Given the description of an element on the screen output the (x, y) to click on. 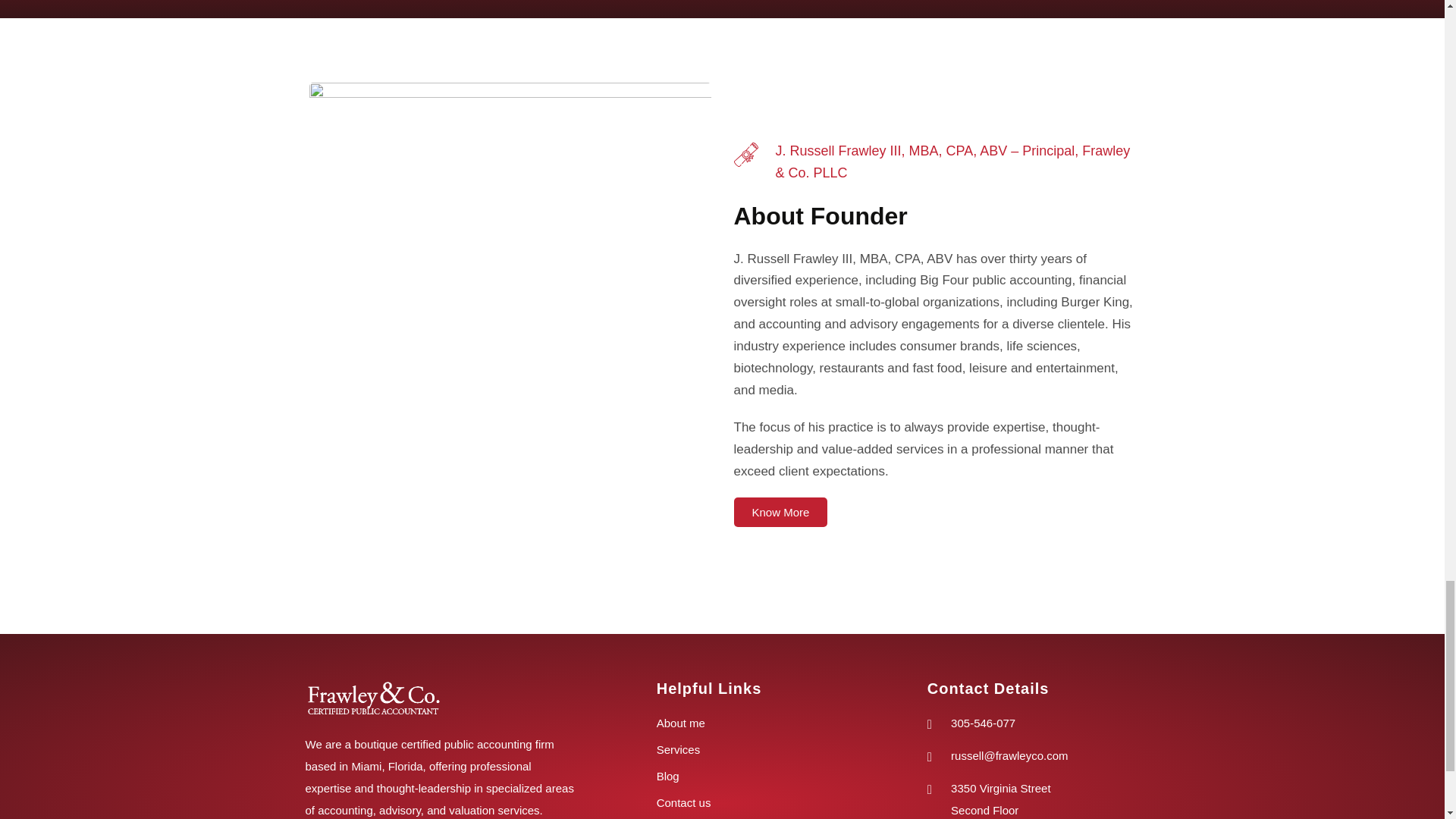
Blog (765, 776)
Know More (780, 512)
About me (765, 723)
Contact us (765, 803)
Services (765, 750)
305-546-077 (1030, 723)
